Given the description of an element on the screen output the (x, y) to click on. 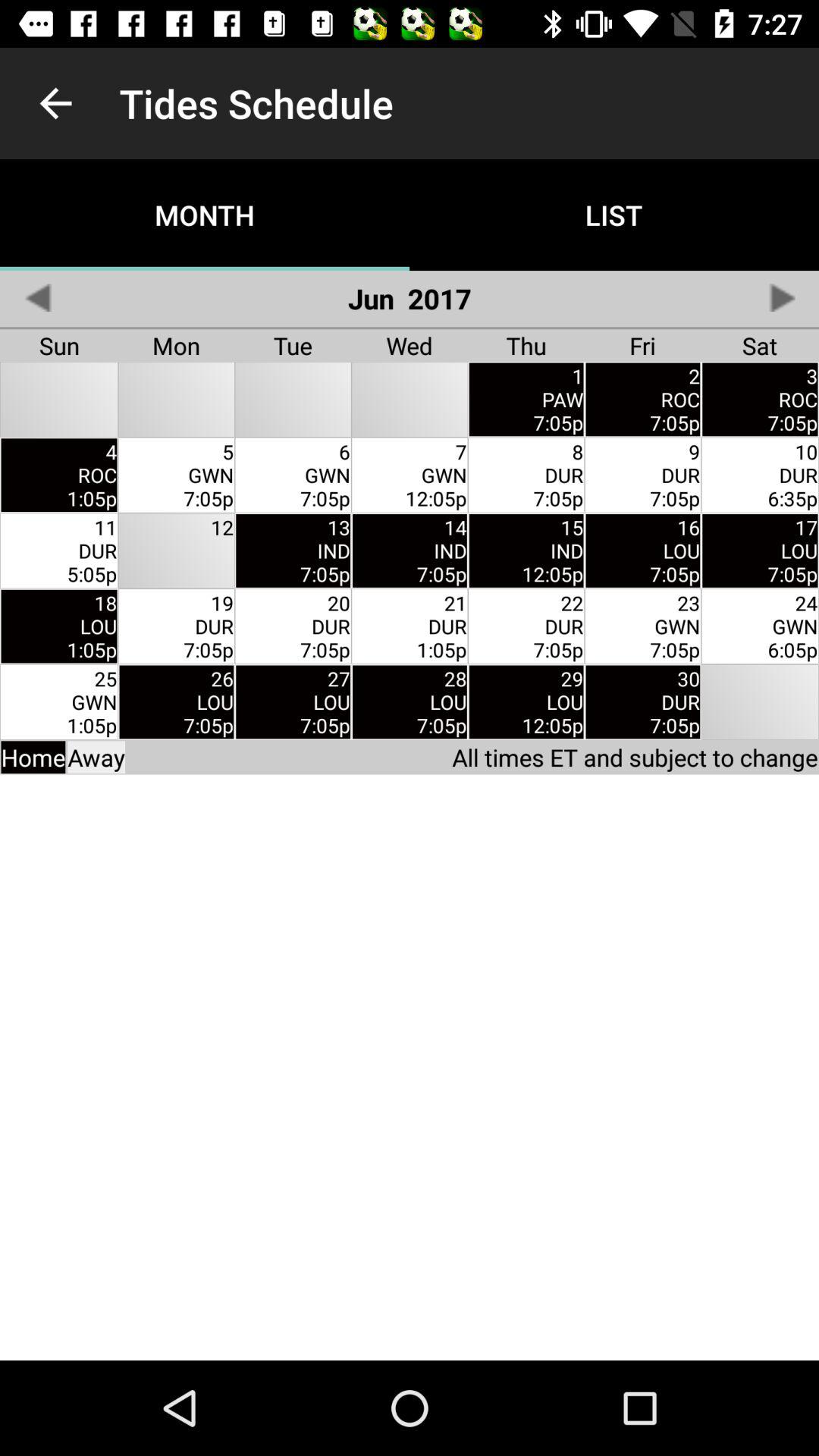
next month (781, 297)
